Given the description of an element on the screen output the (x, y) to click on. 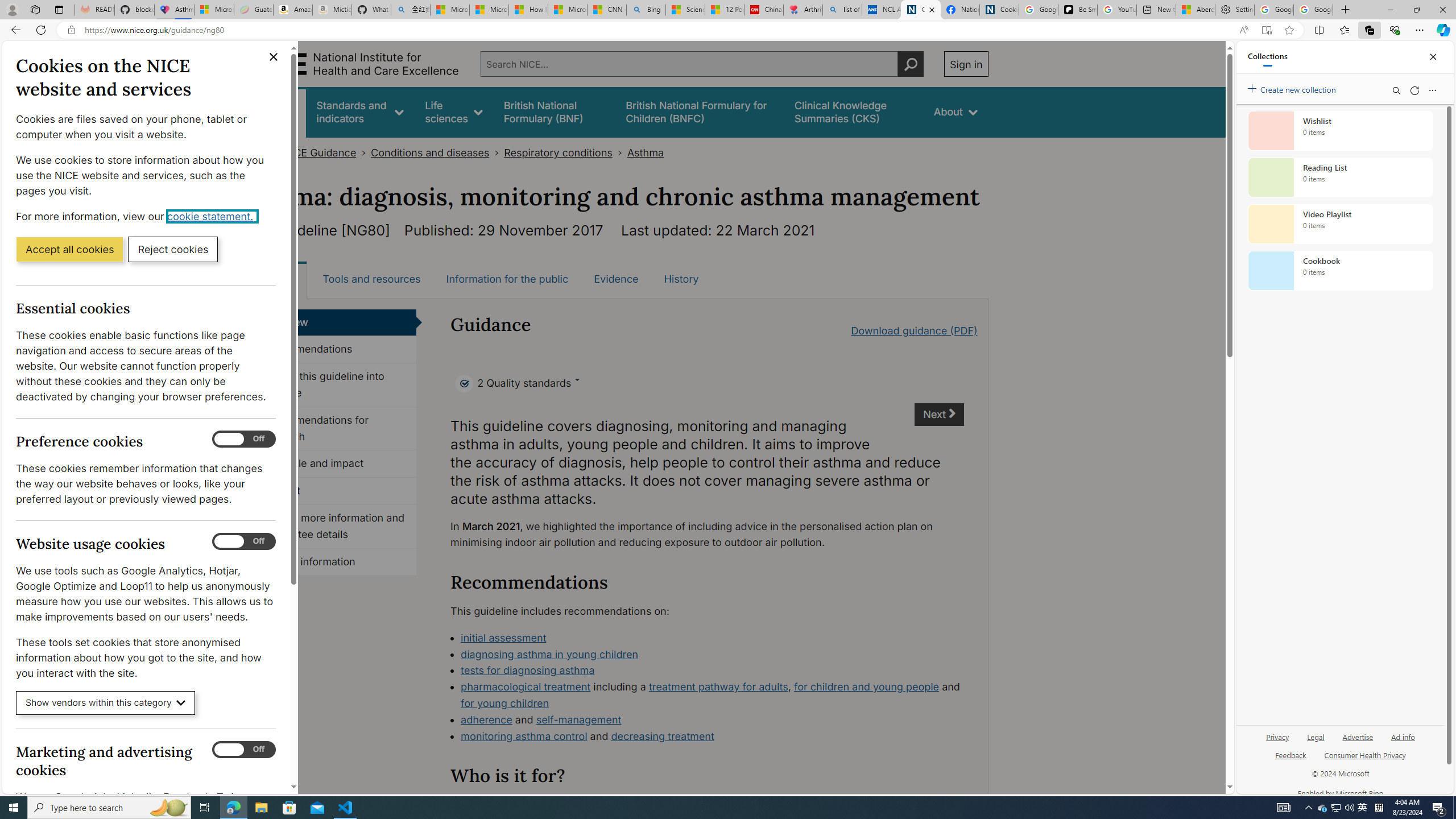
More options menu (1432, 90)
for young children (504, 702)
Be Smart | creating Science videos | Patreon (1077, 9)
Recommendations (333, 349)
diagnosing asthma in young children (711, 654)
initial assessment (503, 637)
NICE Guidance (319, 152)
Marketing and advertising cookies (243, 749)
Website usage cookies (243, 540)
